Given the description of an element on the screen output the (x, y) to click on. 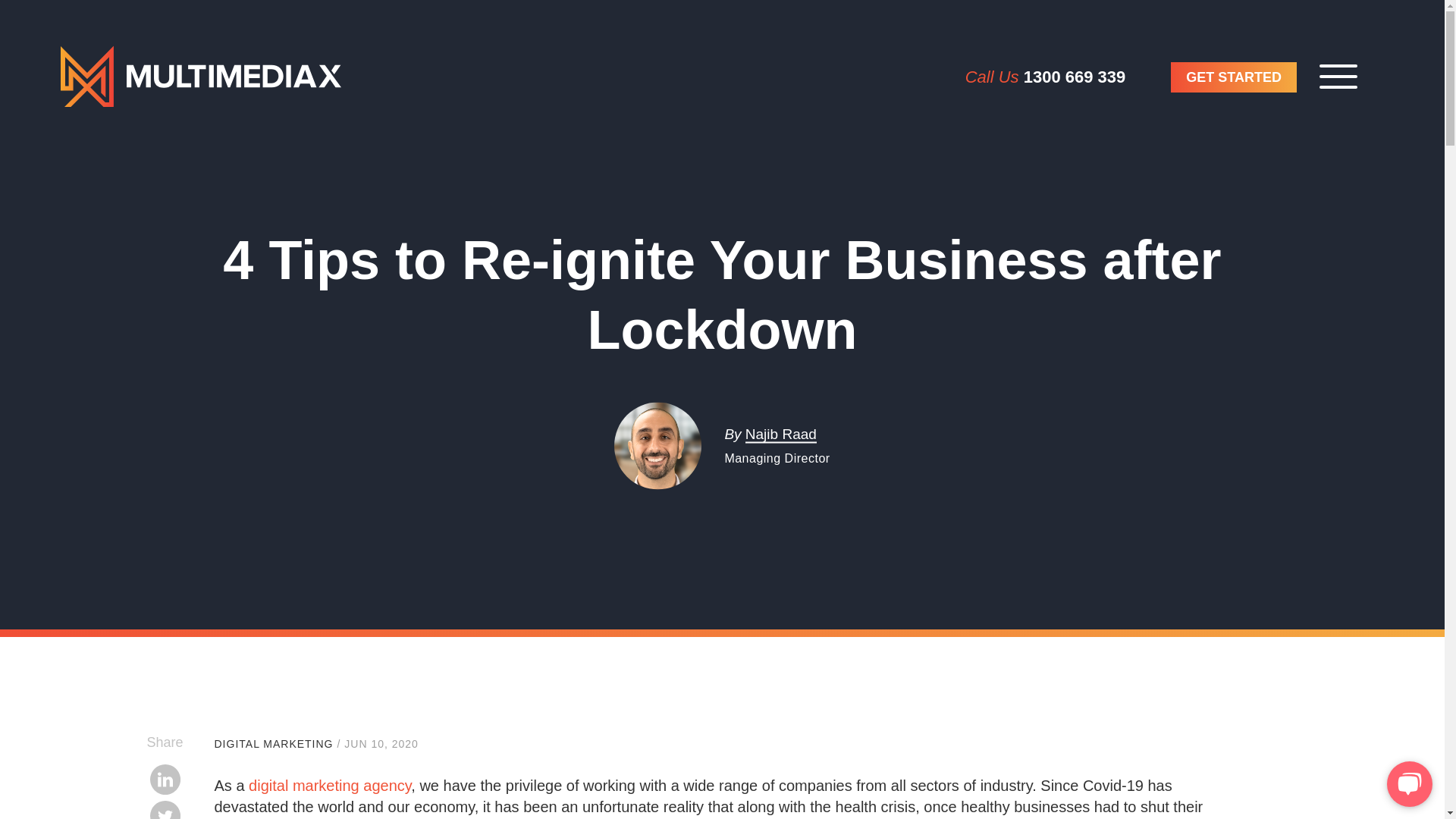
Najib Raad (780, 433)
 Share on Twitter (164, 809)
digital marketing agency (329, 785)
1300 669 339 (1074, 76)
 Share via Linkedin (164, 779)
GET STARTED (1233, 77)
